Given the description of an element on the screen output the (x, y) to click on. 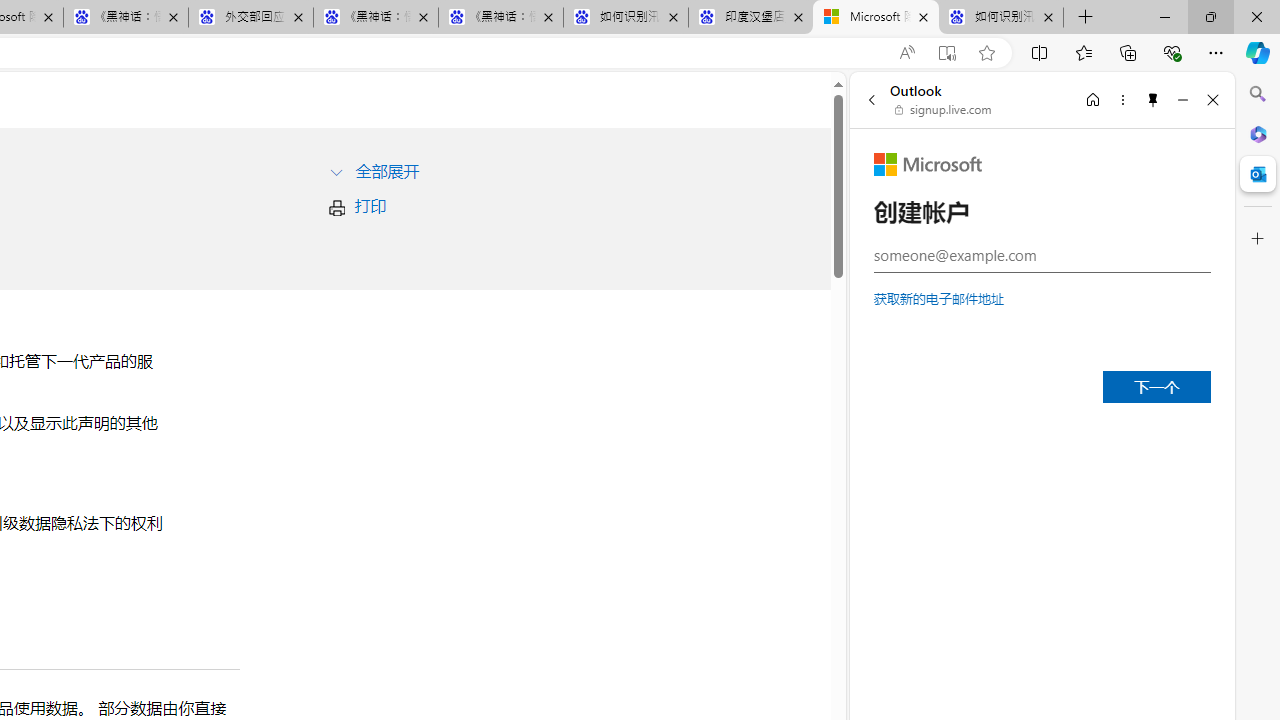
signup.live.com (943, 110)
